Given the description of an element on the screen output the (x, y) to click on. 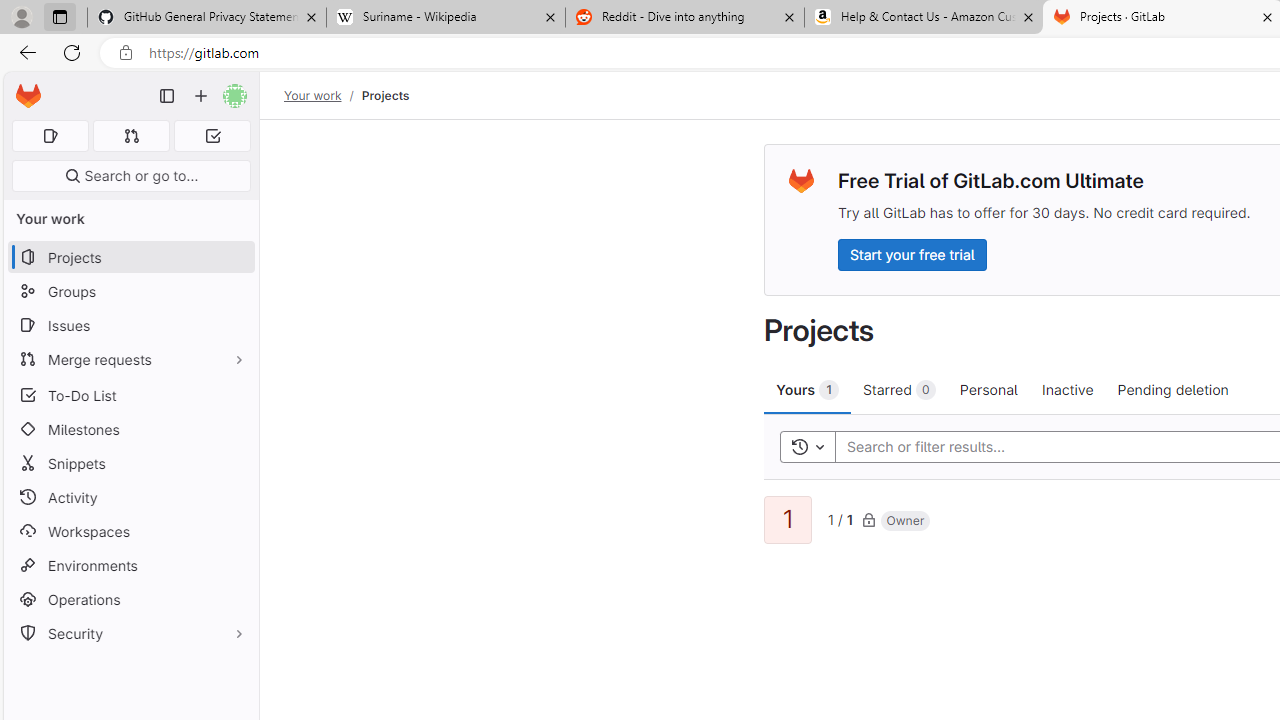
Milestones (130, 429)
Environments (130, 564)
Toggle history (807, 445)
Activity (130, 497)
Merge requests (130, 358)
Operations (130, 599)
Environments (130, 564)
Security (130, 633)
Milestones (130, 429)
